Given the description of an element on the screen output the (x, y) to click on. 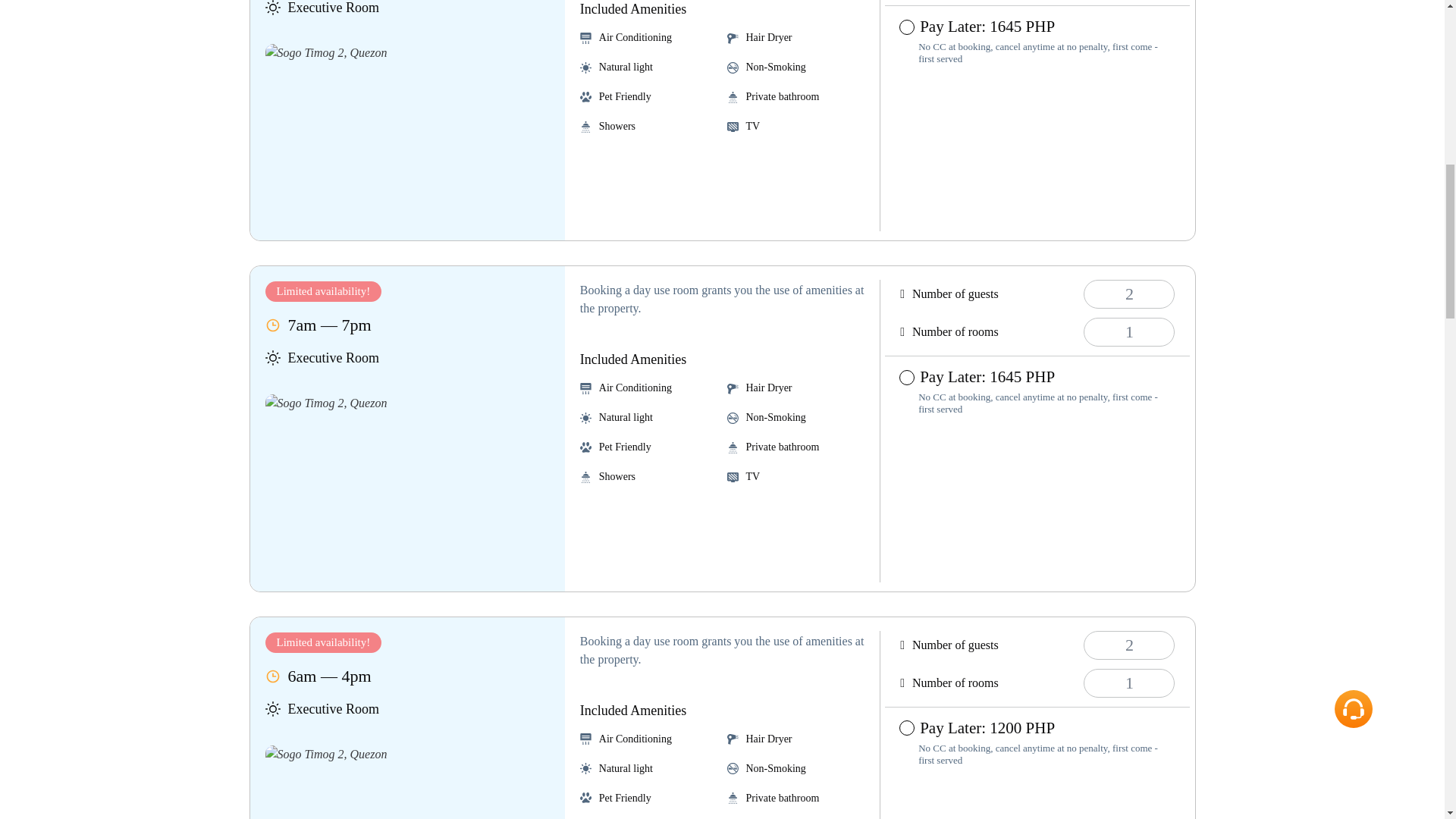
2 (1128, 645)
Private bathroom (732, 97)
Air Conditioning (585, 388)
TV (732, 126)
1 (1128, 331)
Hair Dryer (732, 38)
Showers (585, 126)
1 (1128, 683)
Hair Dryer (732, 388)
Natural light (585, 418)
